Given the description of an element on the screen output the (x, y) to click on. 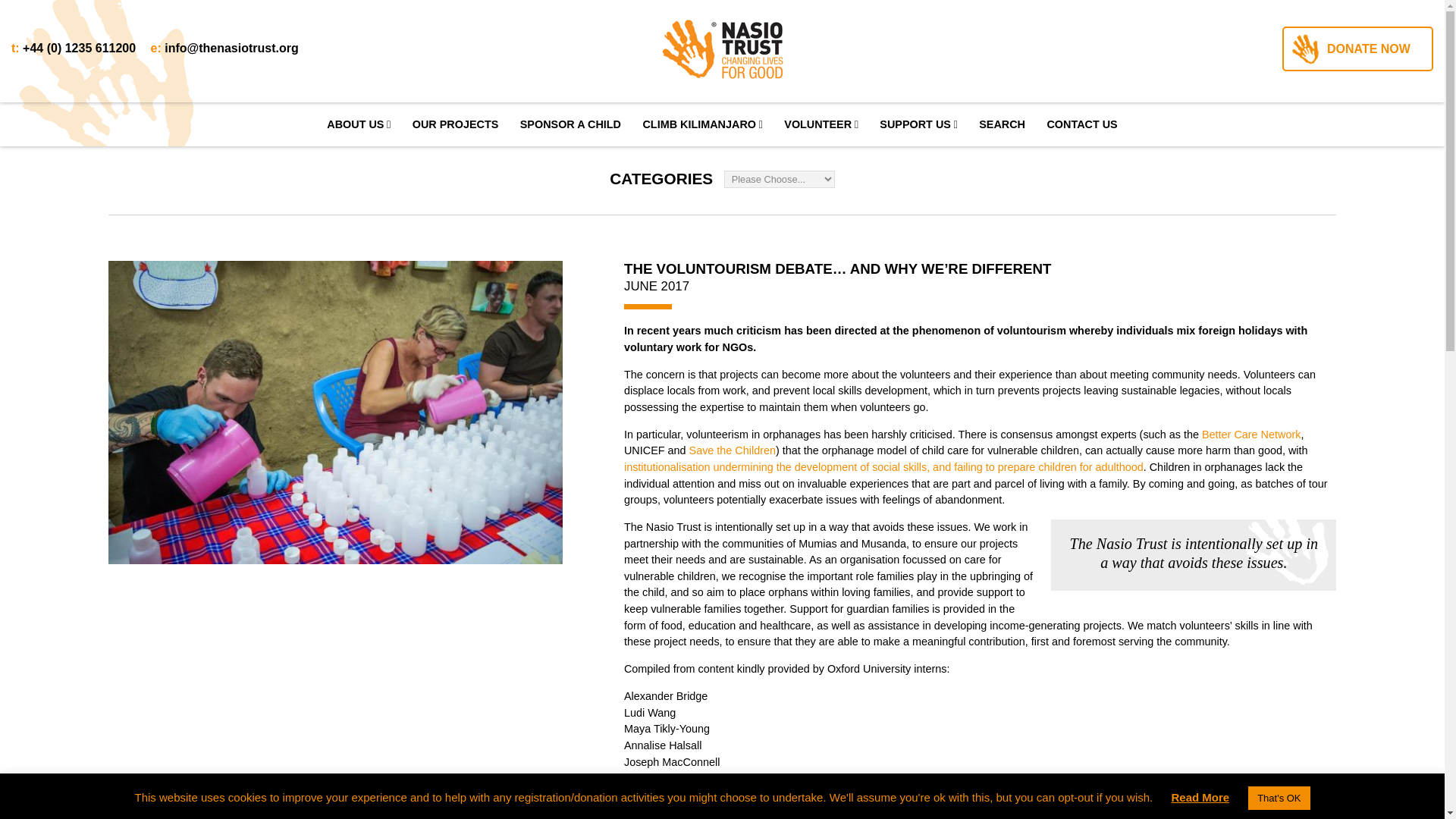
OUR PROJECTS (455, 123)
SUPPORT US (917, 123)
Better Care Network (1251, 434)
eMail The Nasio Trust (231, 47)
SEARCH (1001, 123)
CONTACT US (1081, 123)
Make a secure donation online... anytime! (1357, 48)
VOLUNTEER (821, 123)
CLIMB KILIMANJARO (701, 123)
DONATE NOW (1357, 48)
SPONSOR A CHILD (570, 123)
Phone the Nasio Trust (79, 47)
Save the Children (732, 450)
ABOUT US (358, 123)
